Given the description of an element on the screen output the (x, y) to click on. 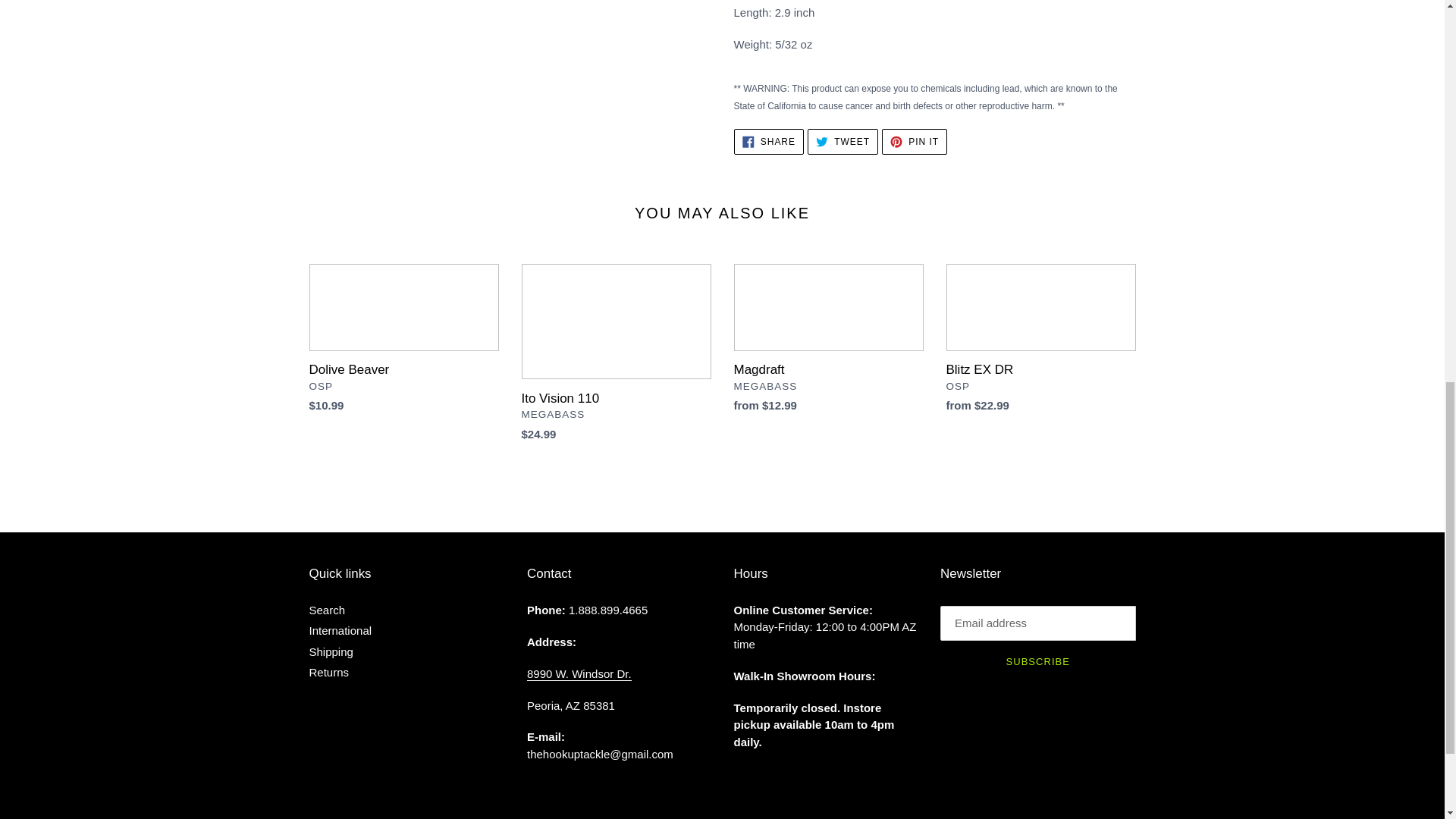
The Hook Up Tackle Map (579, 673)
